Given the description of an element on the screen output the (x, y) to click on. 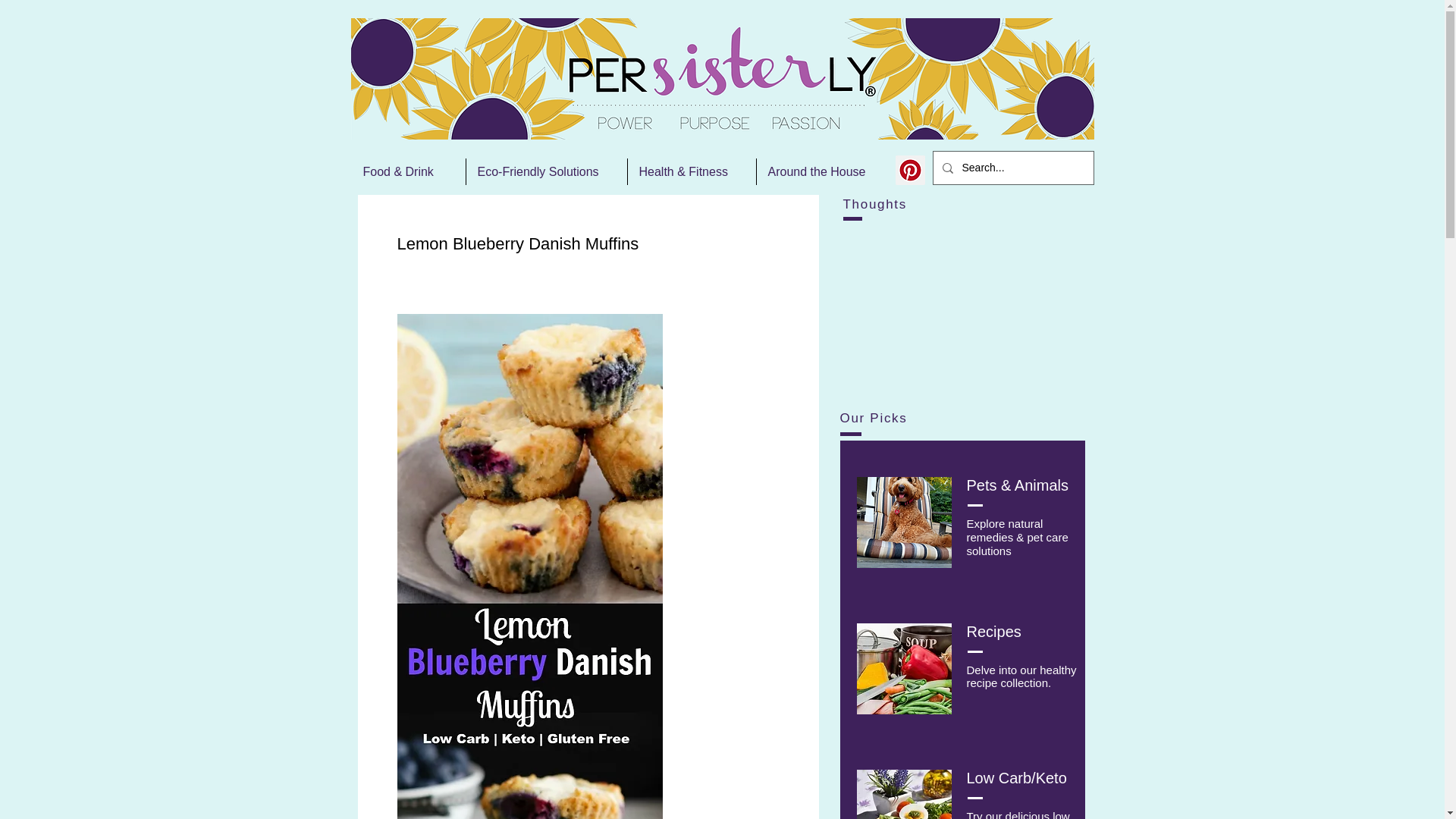
Eco-Friendly Solutions (545, 171)
ecipes (999, 631)
Around the House (826, 171)
